Given the description of an element on the screen output the (x, y) to click on. 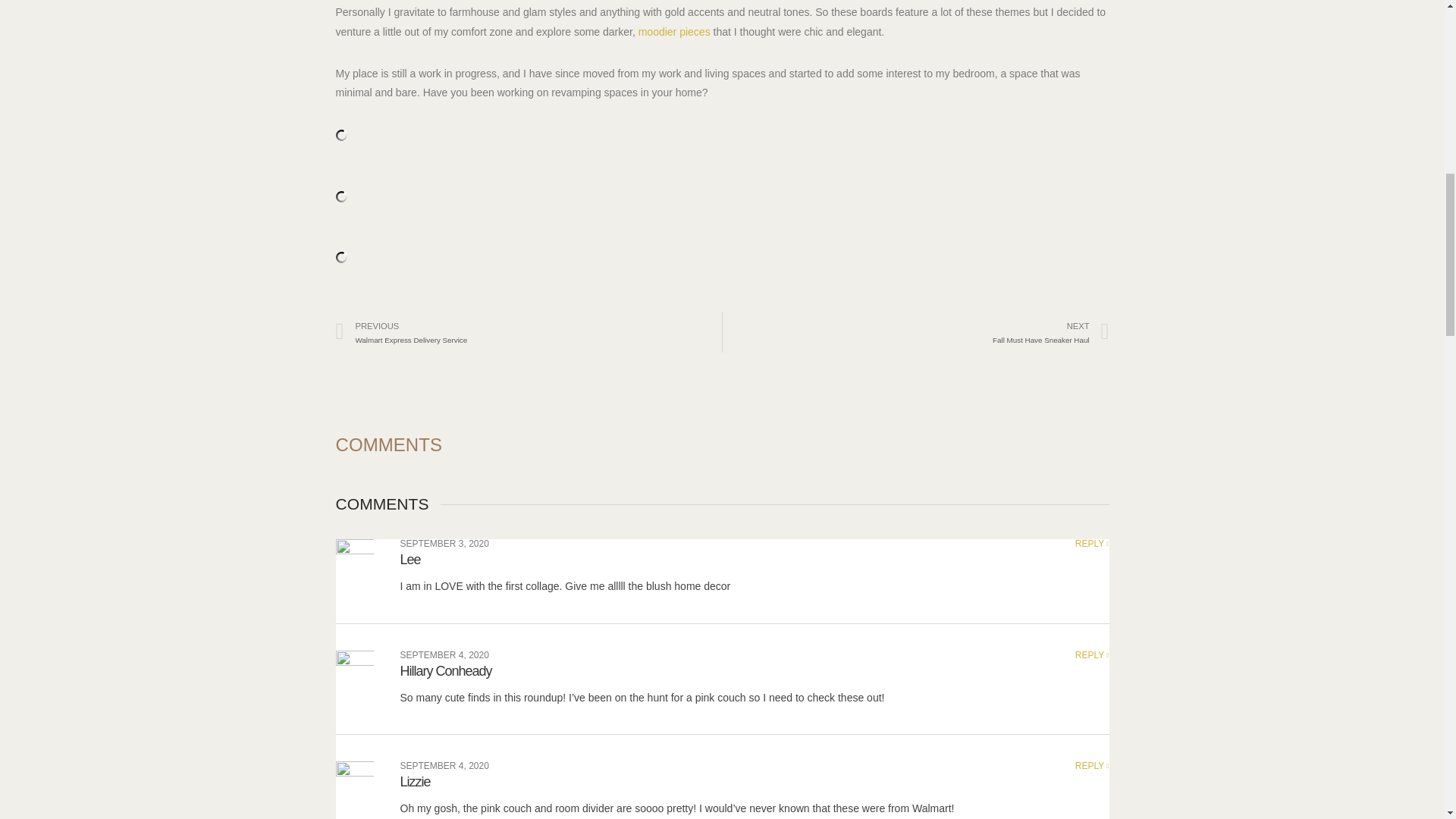
REPLY (1092, 542)
Lee (410, 559)
REPLY (915, 332)
Hillary Conheady (1092, 765)
SEPTEMBER 3, 2020 (446, 670)
REPLY (444, 542)
SEPTEMBER 4, 2020 (1092, 655)
moodier pieces (528, 332)
SEPTEMBER 4, 2020 (444, 765)
